Given the description of an element on the screen output the (x, y) to click on. 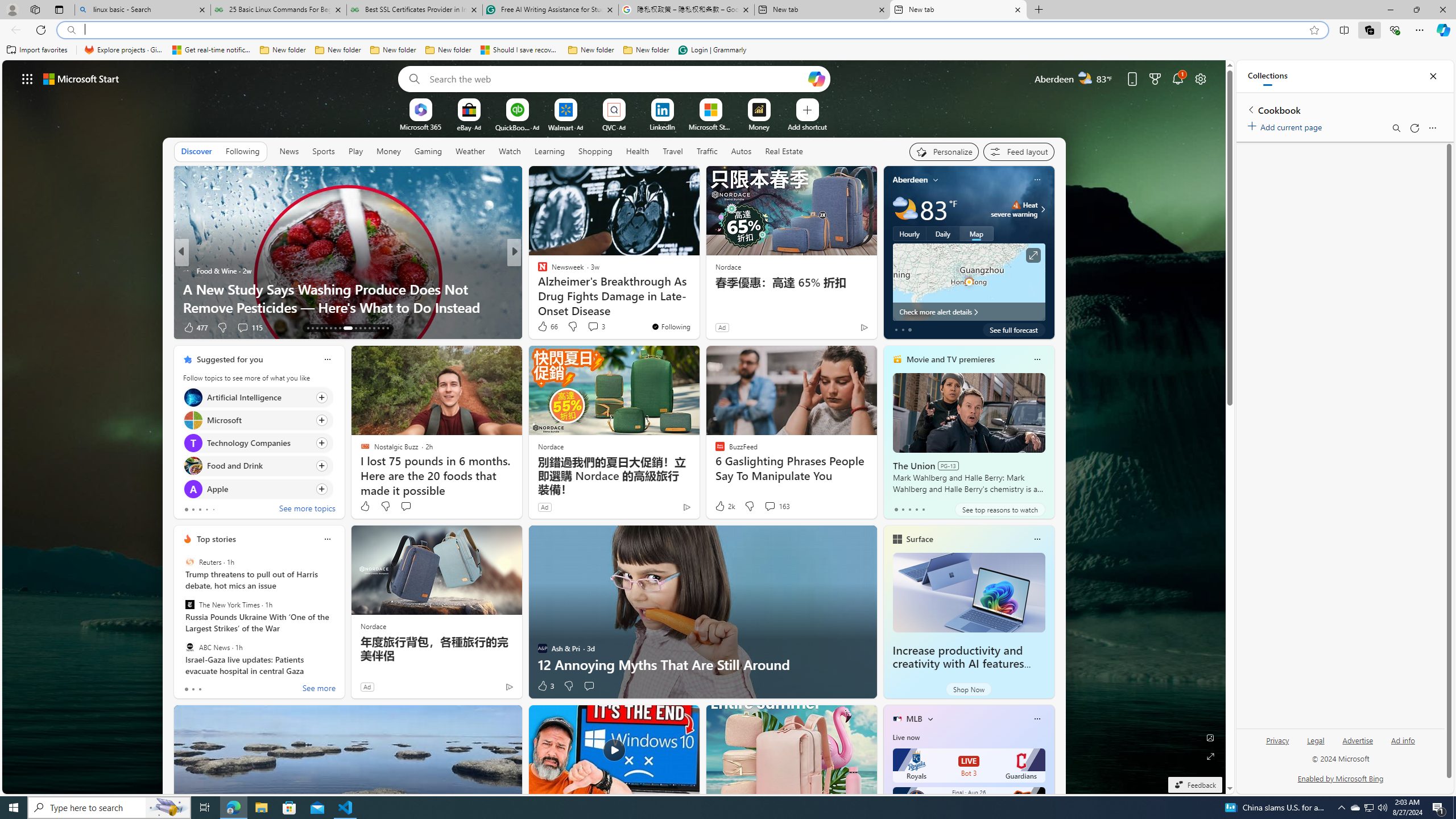
Network Products (697, 307)
AutomationID: tab-13 (307, 328)
328 Like (545, 327)
AutomationID: waffle (27, 78)
View comments 2 Comment (592, 327)
Reader's Digest (537, 270)
Movie and TV premieres (949, 359)
tab-2 (199, 689)
AutomationID: tab-14 (312, 328)
Reuters (189, 561)
